Given the description of an element on the screen output the (x, y) to click on. 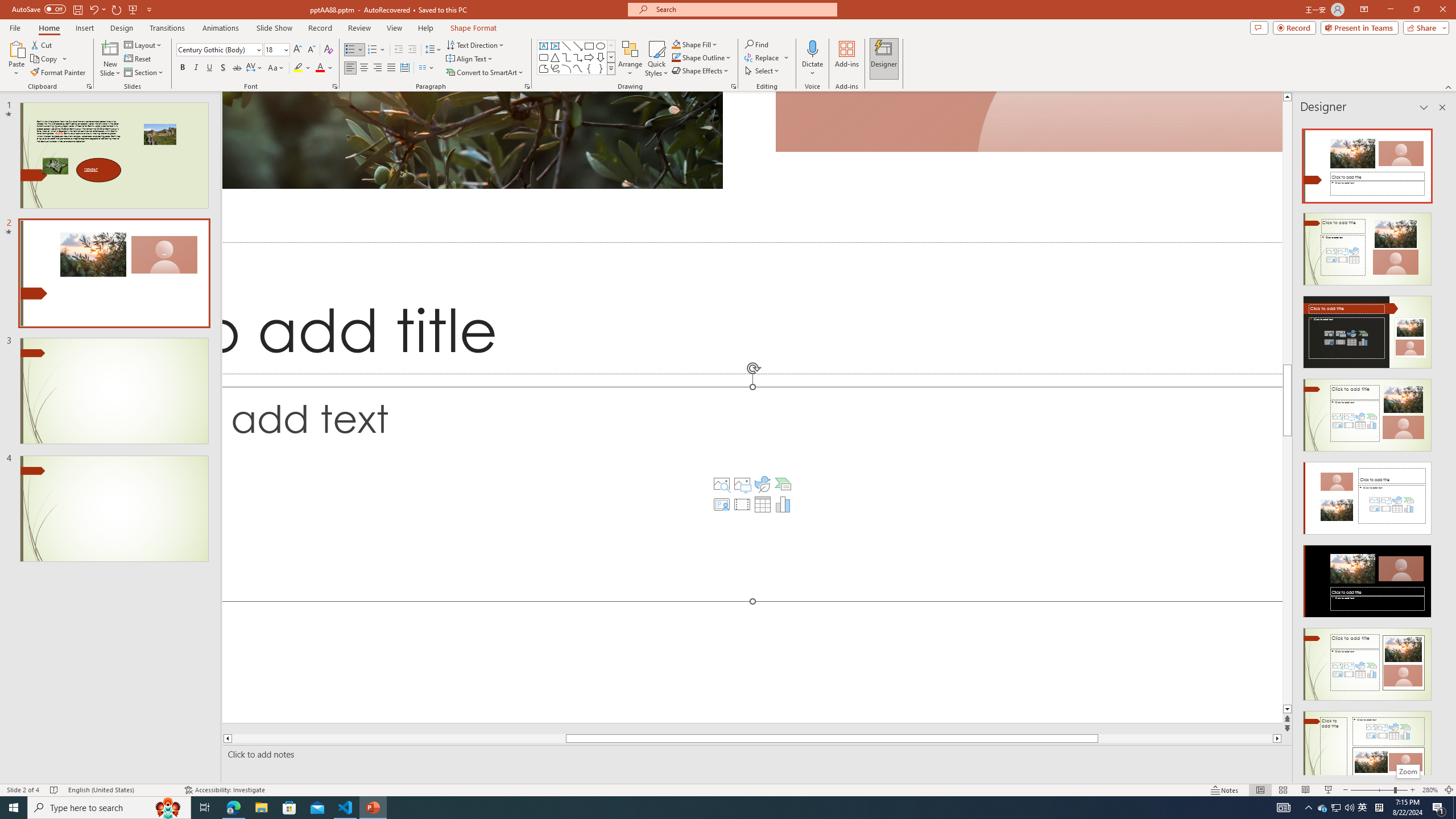
Zoom (1407, 771)
Recommended Design: Design Idea (1366, 162)
Row up (611, 45)
Numbering (376, 49)
Increase Font Size (297, 49)
Comments (1259, 27)
Record (1294, 27)
Decrease Indent (398, 49)
Convert to SmartArt (485, 72)
Rectangle (589, 45)
Notes  (1225, 790)
Font (219, 49)
Insert Table (762, 504)
Italic (195, 67)
Arrow: Right (589, 57)
